Given the description of an element on the screen output the (x, y) to click on. 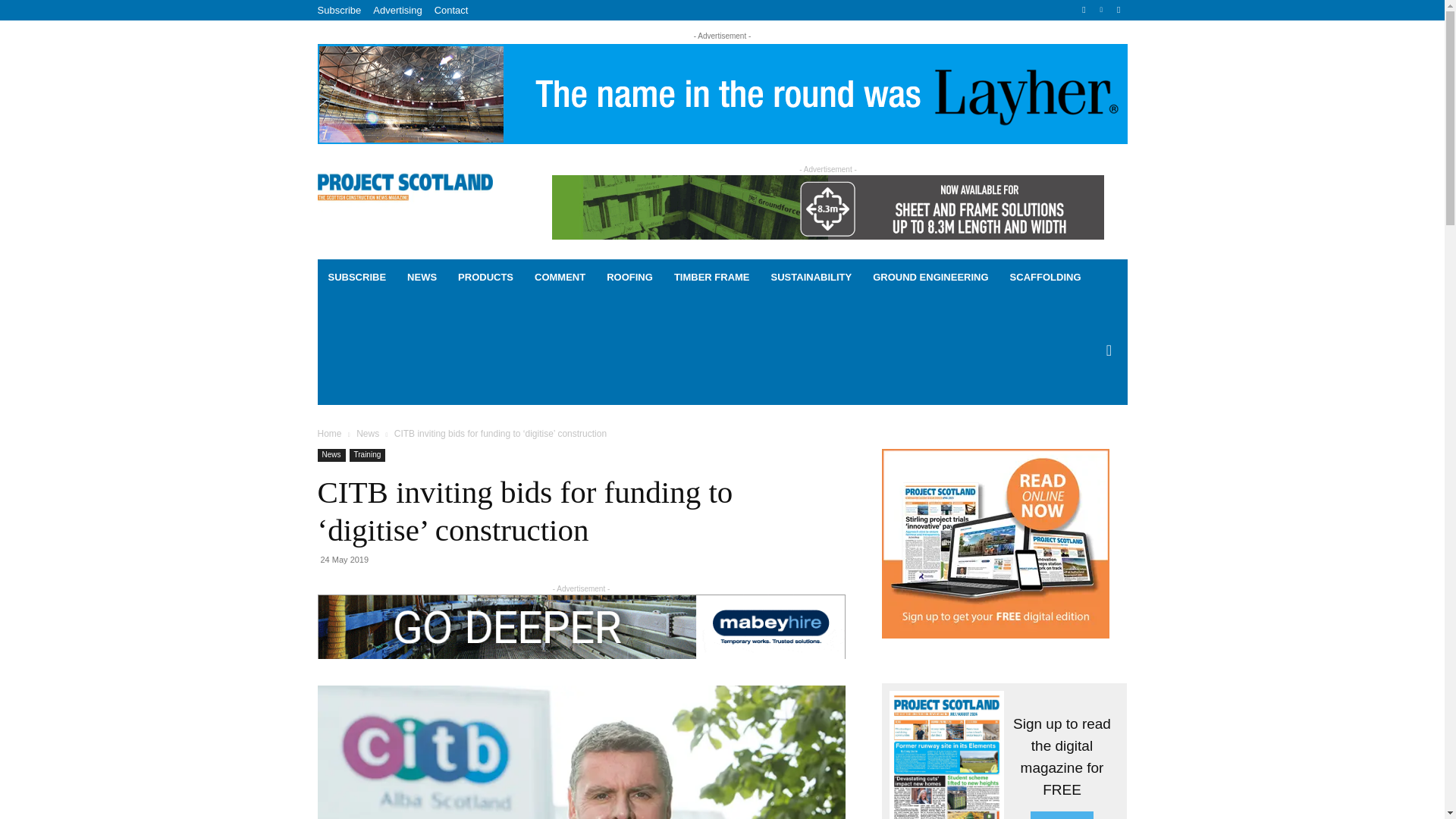
ROOFING (629, 277)
Twitter (1117, 9)
Contact (450, 9)
COMMENT (559, 277)
Linkedin (1101, 9)
Advertising (397, 9)
GROUND ENGINEERING (929, 277)
NEWS (421, 277)
View all posts in News (367, 433)
SUBSCRIBE (356, 277)
